Given the description of an element on the screen output the (x, y) to click on. 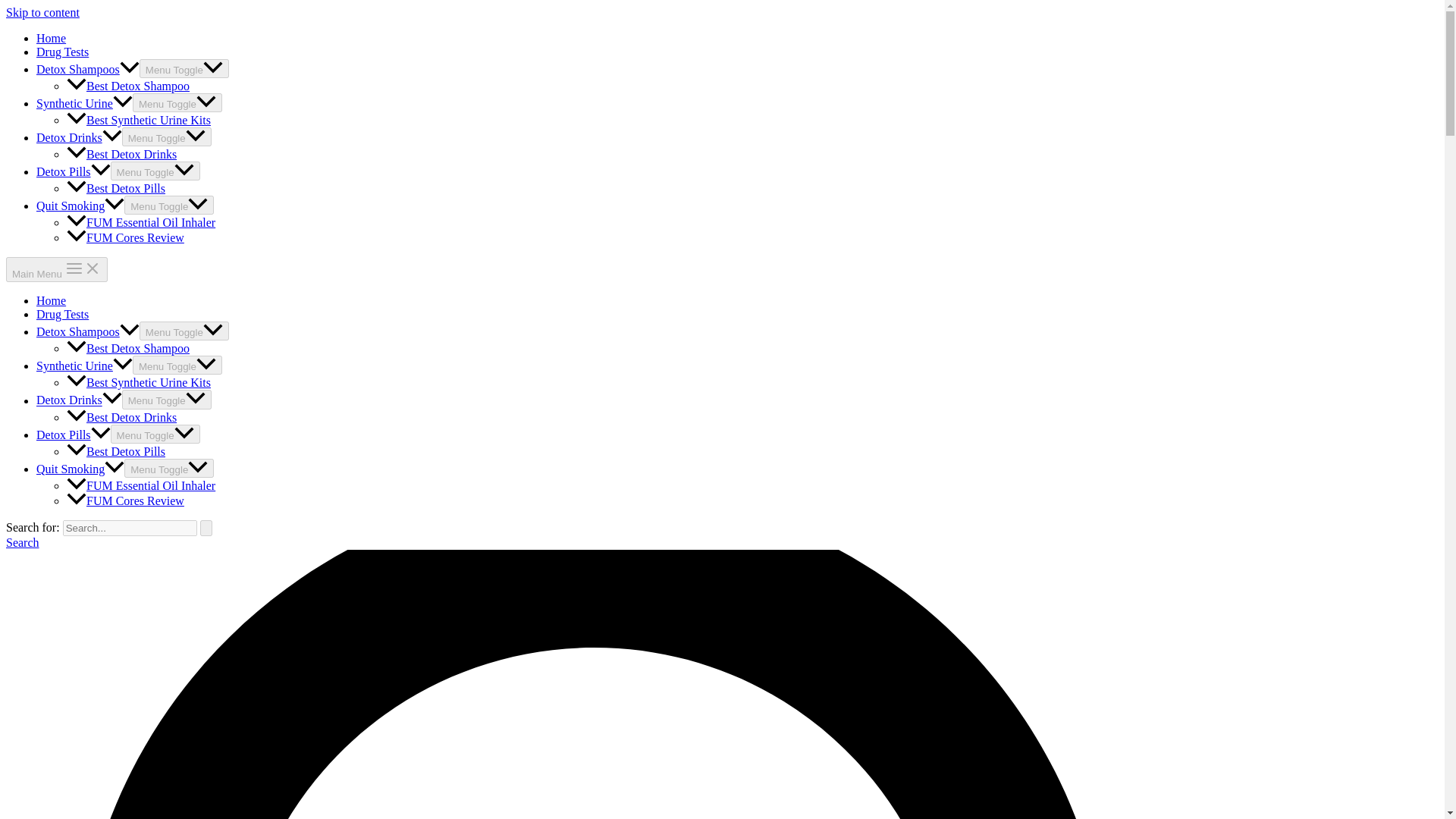
Synthetic Urine (84, 365)
Detox Shampoos (87, 331)
FUM Essential Oil Inhaler (140, 485)
Best Detox Shampoo (127, 348)
Menu Toggle (183, 330)
Skip to content (42, 11)
Quit Smoking (79, 468)
FUM Cores Review (125, 237)
Best Detox Pills (115, 451)
Menu Toggle (155, 434)
Detox Pills (73, 434)
Synthetic Urine (84, 103)
Detox Shampoos (87, 69)
Menu Toggle (183, 67)
Menu Toggle (168, 467)
